Given the description of an element on the screen output the (x, y) to click on. 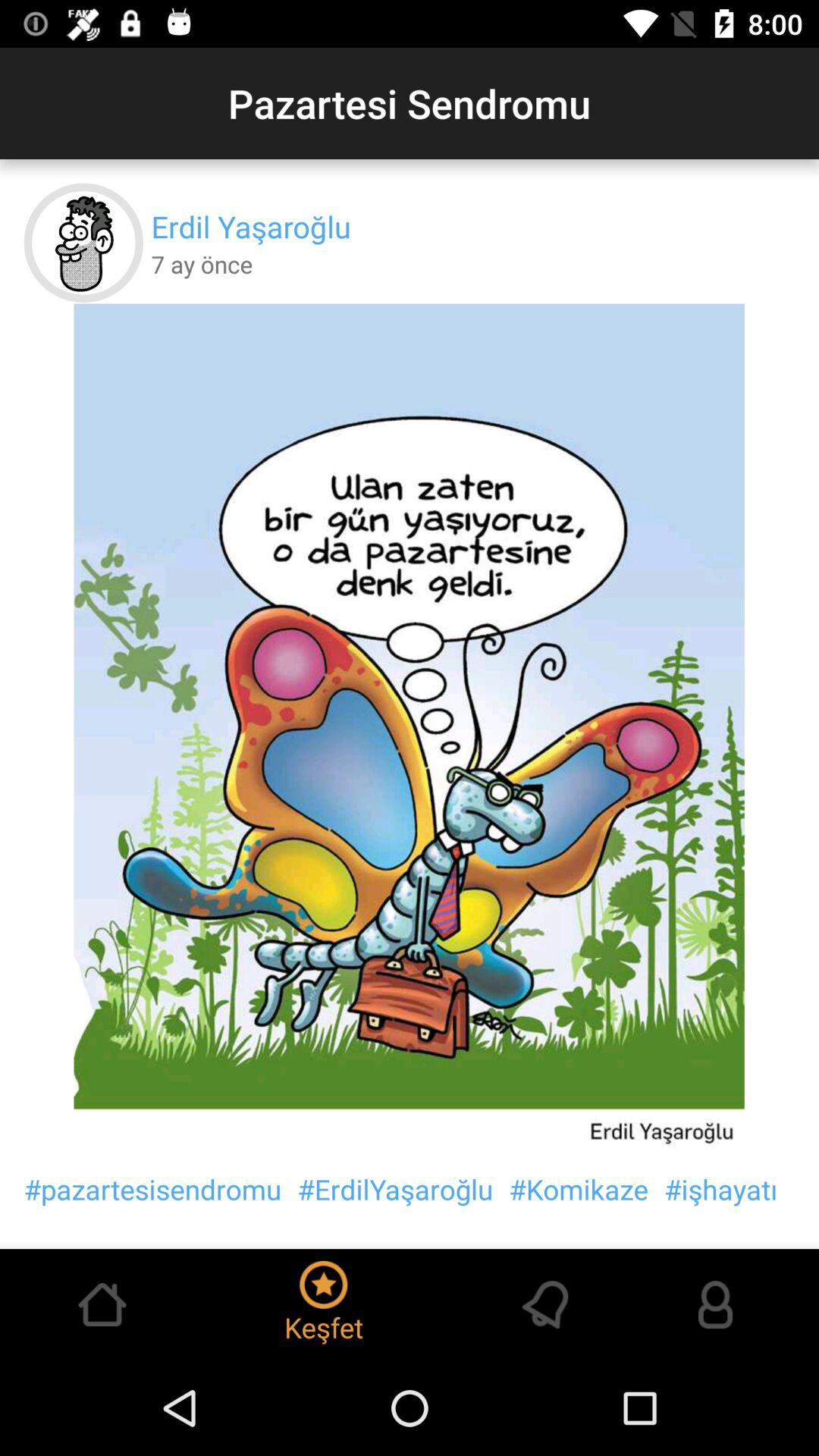
turn on the item to the right of #pazartesisendromu item (395, 1189)
